Given the description of an element on the screen output the (x, y) to click on. 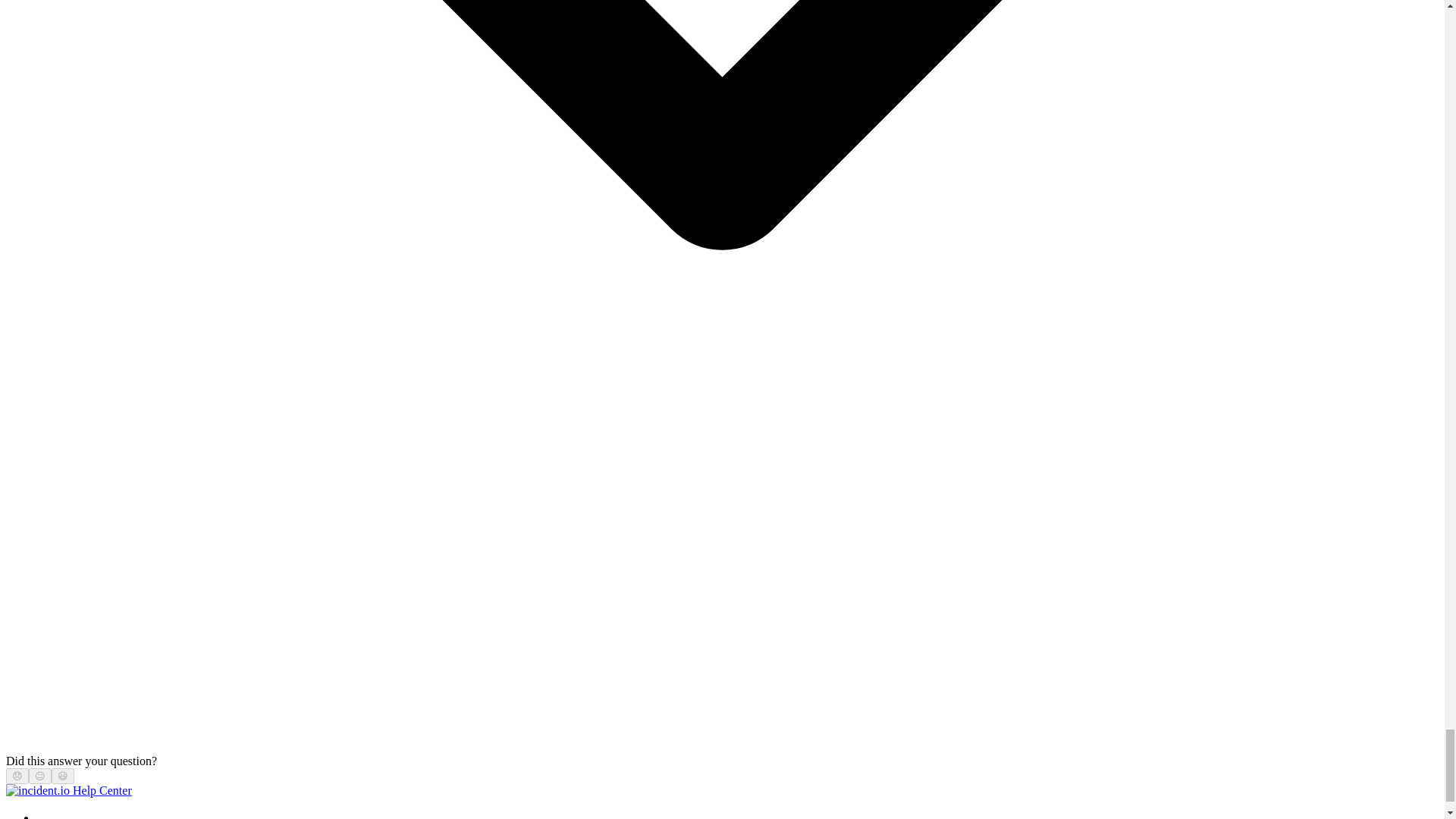
Disappointed (17, 776)
Smiley (63, 776)
Neutral (39, 776)
